Given the description of an element on the screen output the (x, y) to click on. 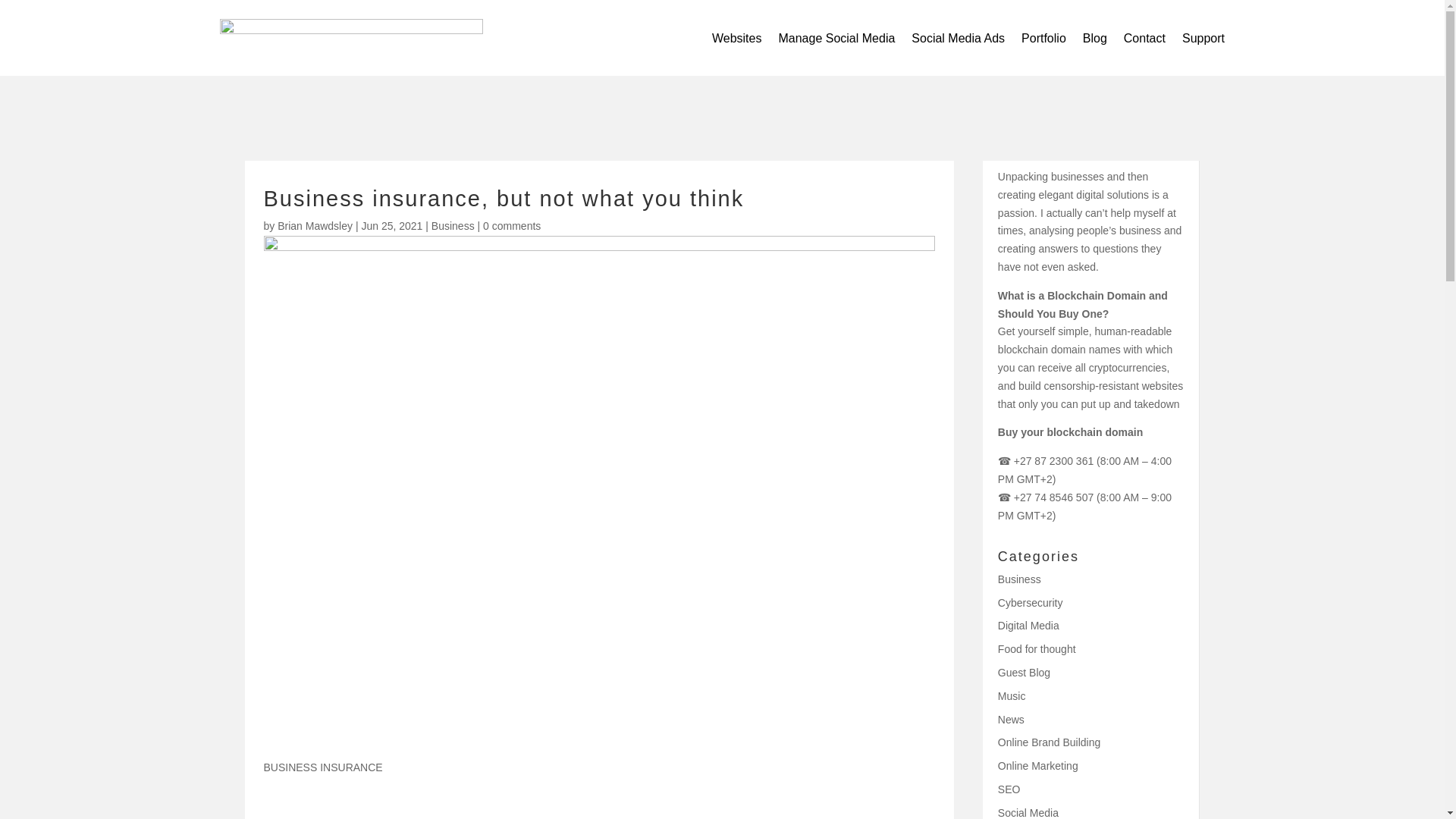
Guest Blog (1023, 672)
Online Marketing (1037, 766)
Social Media (1027, 812)
Business (1019, 579)
Online Brand Building (1048, 742)
Food for thought (1036, 648)
Buy your blockchain domain  (1071, 431)
0 comments (511, 225)
News (1011, 719)
SEO (1008, 788)
